Given the description of an element on the screen output the (x, y) to click on. 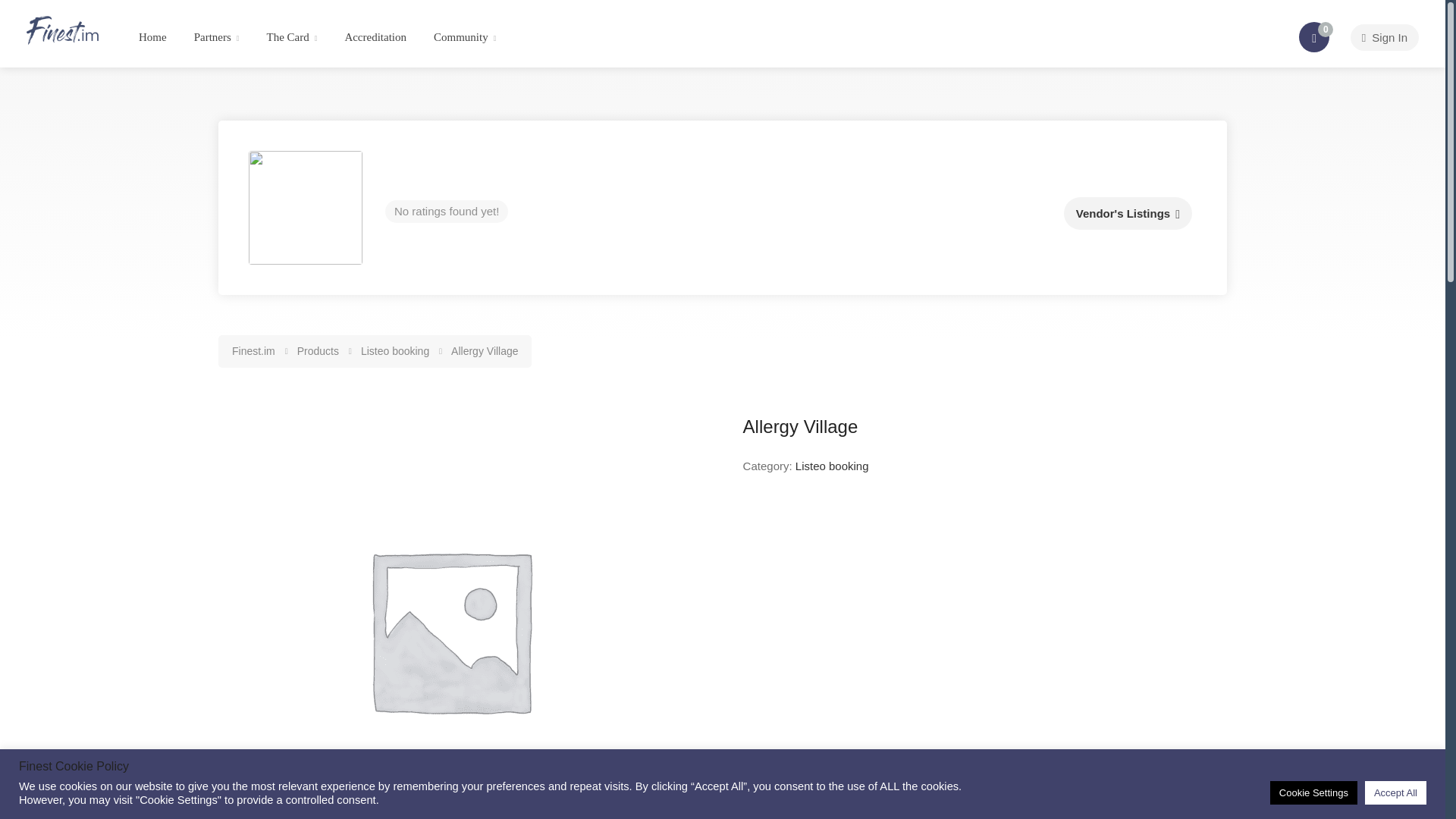
Accreditation (375, 37)
Go to the Listeo booking Category archives. (395, 350)
The Card (291, 37)
Finest.im (62, 29)
Home (152, 37)
Community (464, 37)
Sign In (1384, 37)
Go to Products. (318, 350)
Go to Finest.im. (254, 350)
Partners (216, 37)
